Given the description of an element on the screen output the (x, y) to click on. 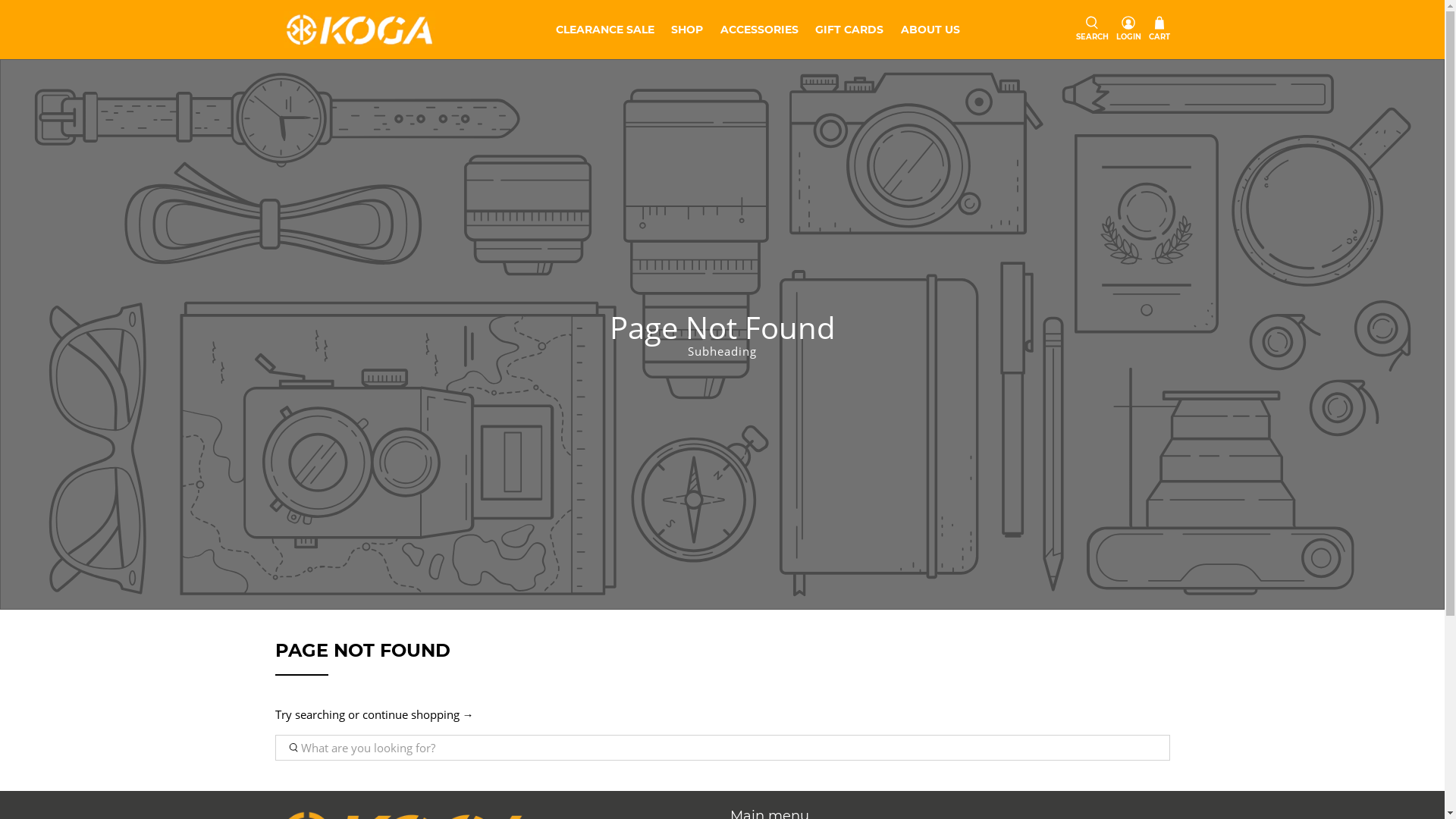
Koga Sport Element type: hover (359, 29)
LOGIN Element type: text (1127, 29)
SEARCH Element type: text (1092, 29)
CART Element type: text (1158, 29)
CLEARANCE SALE Element type: text (605, 29)
ABOUT US Element type: text (929, 29)
ACCESSORIES Element type: text (758, 29)
GIFT CARDS Element type: text (849, 29)
SHOP Element type: text (687, 29)
